Given the description of an element on the screen output the (x, y) to click on. 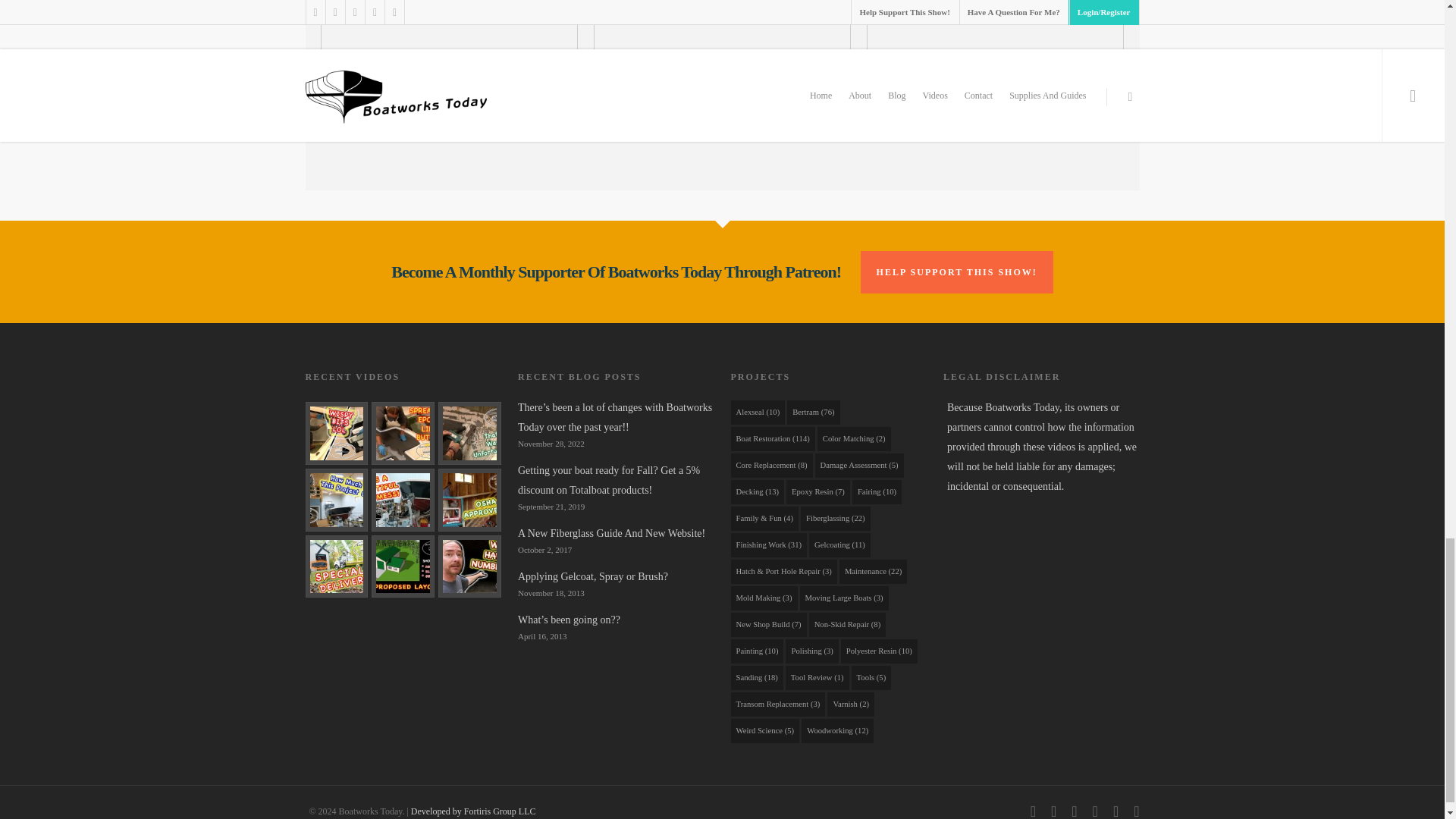
THE NEW BOATWORKS TODAY SHOP BUILD BEGINS! (336, 566)
New Boat Shop Update: Costs And First Steps! (469, 566)
Submit Comment (721, 120)
GETTING READY TO INSULATE THE BOAT SHOP! (469, 499)
NEW BOAT SHOP UPDATE: ADDITION AND ELECTRICAL! (402, 566)
THE NEW BOATWORKS TODAY SHOP IS READY! (402, 499)
